Given the description of an element on the screen output the (x, y) to click on. 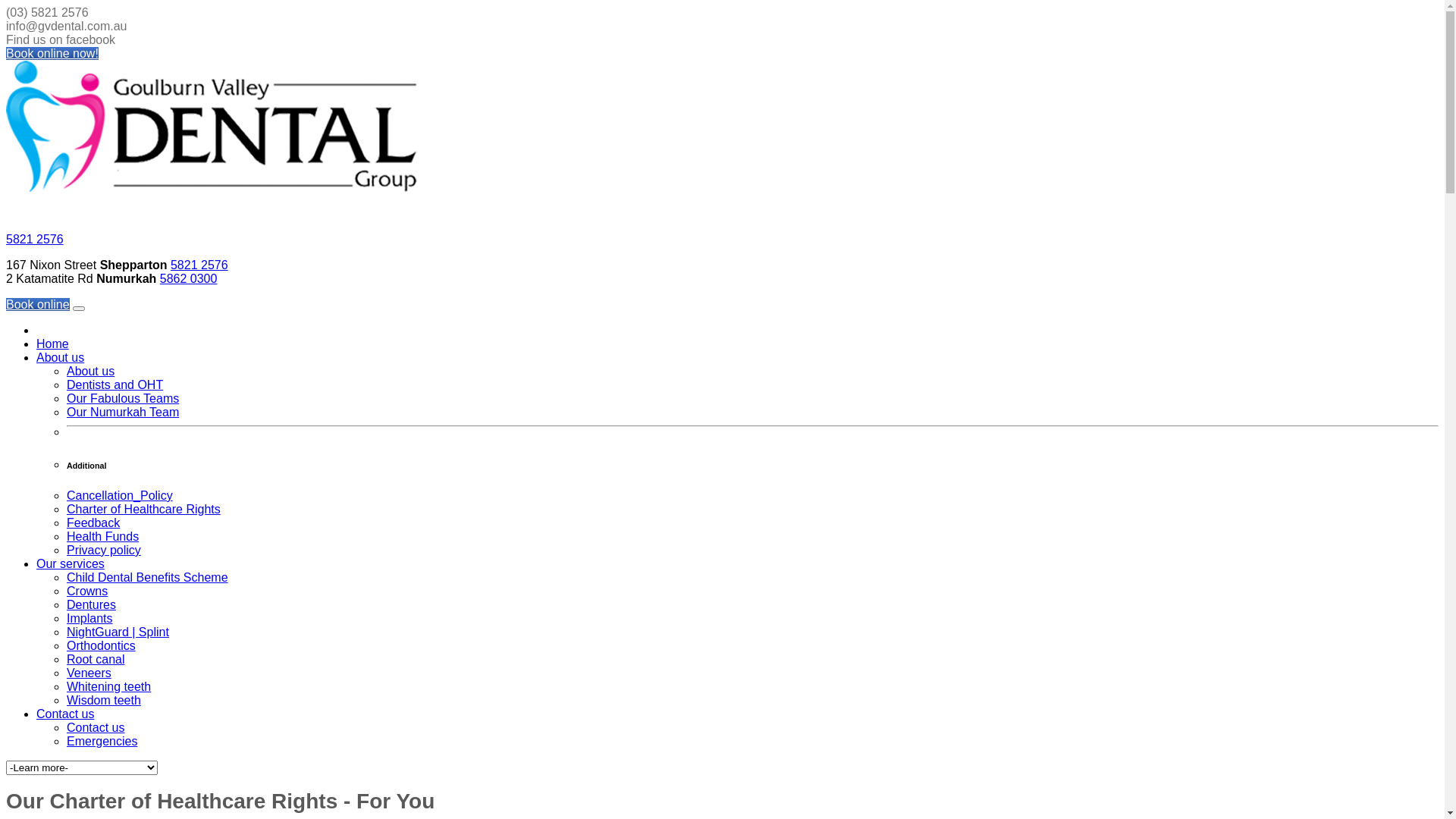
Child Dental Benefits Scheme Element type: text (147, 577)
5862 0300 Element type: text (188, 278)
Contact us Element type: text (65, 713)
Charter of Healthcare Rights Element type: text (143, 508)
5821 2576 Element type: text (199, 264)
Cancellation_Policy Element type: text (119, 495)
Implants Element type: text (89, 617)
Orthodontics Element type: text (100, 645)
Our Numurkah Team Element type: text (122, 411)
Our Fabulous Teams Element type: text (122, 398)
Find us on facebook Element type: text (60, 39)
Crowns Element type: text (86, 590)
Our services Element type: text (70, 563)
Feedback Element type: text (92, 522)
Privacy policy Element type: text (103, 549)
NightGuard | Splint Element type: text (117, 631)
Home Element type: text (52, 343)
Whitening teeth Element type: text (108, 686)
Book online now! Element type: text (52, 53)
info@gvdental.com.au Element type: text (66, 25)
Dentures Element type: text (91, 604)
Wisdom teeth Element type: text (103, 699)
Root canal Element type: text (95, 658)
Health Funds Element type: text (102, 536)
About us Element type: text (60, 357)
Emergencies Element type: text (101, 740)
(03) 5821 2576 Element type: text (47, 12)
About us Element type: text (90, 370)
Dentists and OHT Element type: text (114, 384)
Contact us Element type: text (95, 727)
Veneers Element type: text (88, 672)
Book online Element type: text (37, 304)
5821 2576 Element type: text (34, 238)
